Given the description of an element on the screen output the (x, y) to click on. 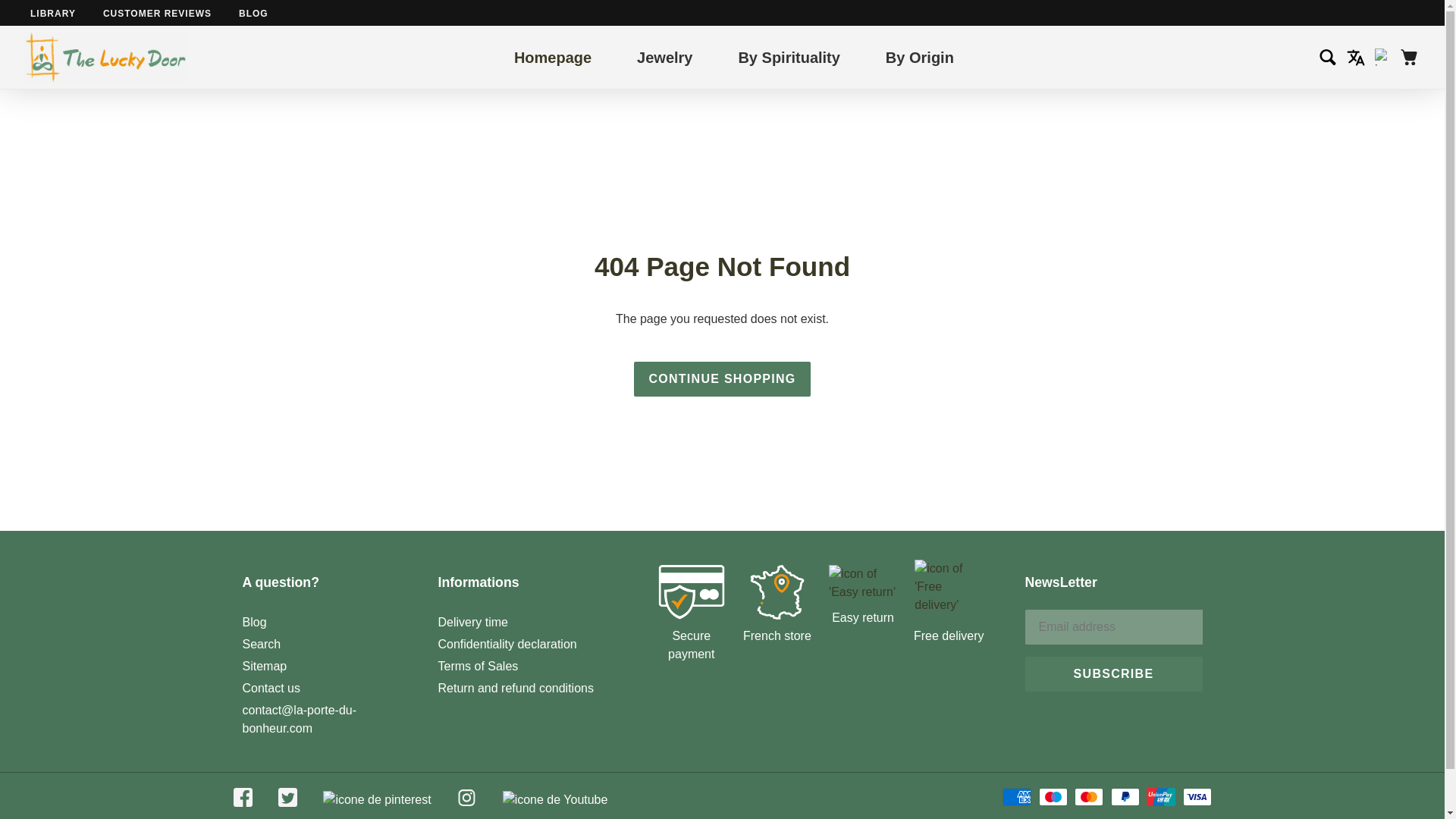
CUSTOMER REVIEWS (157, 13)
LIBRARY (52, 13)
Union Pay (1160, 796)
BLOG (252, 13)
By Spirituality (788, 56)
By Origin (918, 56)
Homepage (552, 56)
Maestro (1053, 796)
American Express (1016, 796)
Visa (1196, 796)
Mastercard (1088, 796)
Homepage (552, 56)
Jewelry (664, 56)
PayPal (1125, 796)
